Given the description of an element on the screen output the (x, y) to click on. 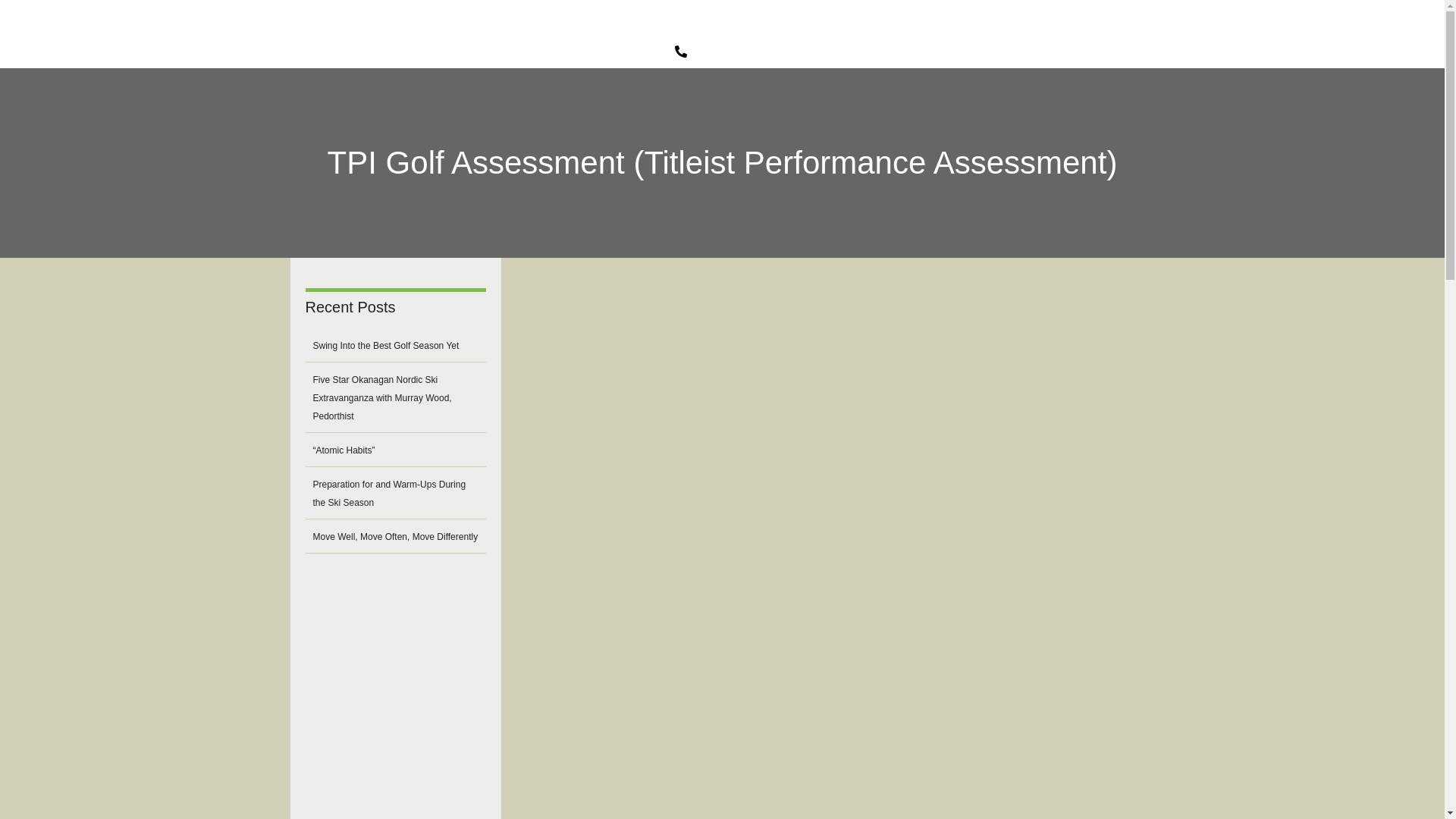
Our Blog (979, 24)
Clinic Services (642, 24)
Contact (795, 24)
BOOK ONLINE (885, 24)
Our Team (397, 24)
Swing Into the Best Golf Season Yet (385, 345)
Move Well, Move Often, Move Differently (395, 536)
Gallery (727, 24)
Home (326, 24)
